Given the description of an element on the screen output the (x, y) to click on. 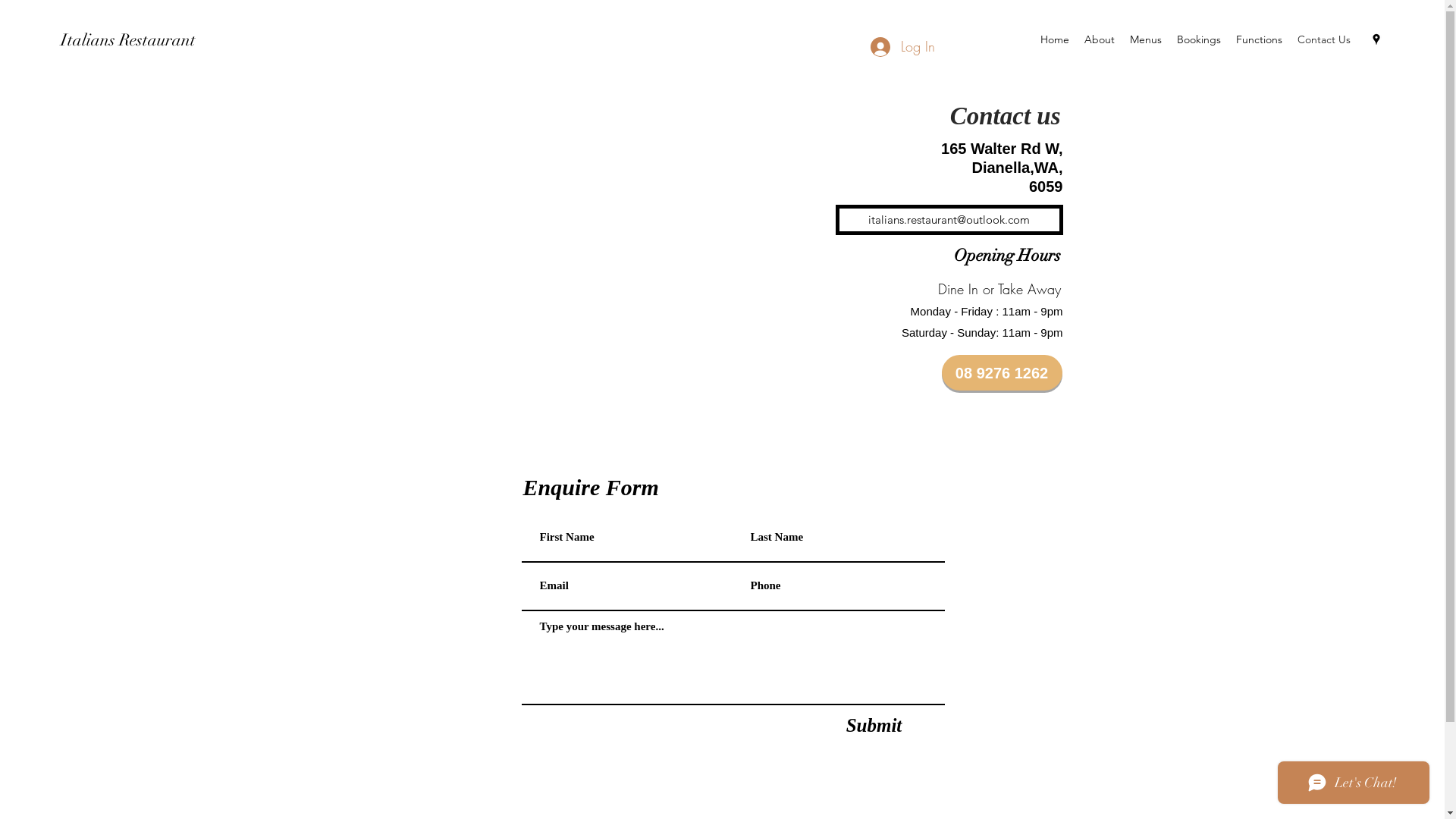
Home Element type: text (1054, 39)
Italians Restaurant Element type: text (127, 39)
Bookings Element type: text (1198, 39)
Functions Element type: text (1258, 39)
Log In Element type: text (902, 46)
Menus Element type: text (1145, 39)
Submit Element type: text (873, 724)
Contact Us Element type: text (1323, 39)
08 9276 1262 Element type: text (1001, 372)
About Element type: text (1099, 39)
Google Maps Element type: hover (526, 214)
italians.restaurant@outlook.com Element type: text (949, 219)
